Given the description of an element on the screen output the (x, y) to click on. 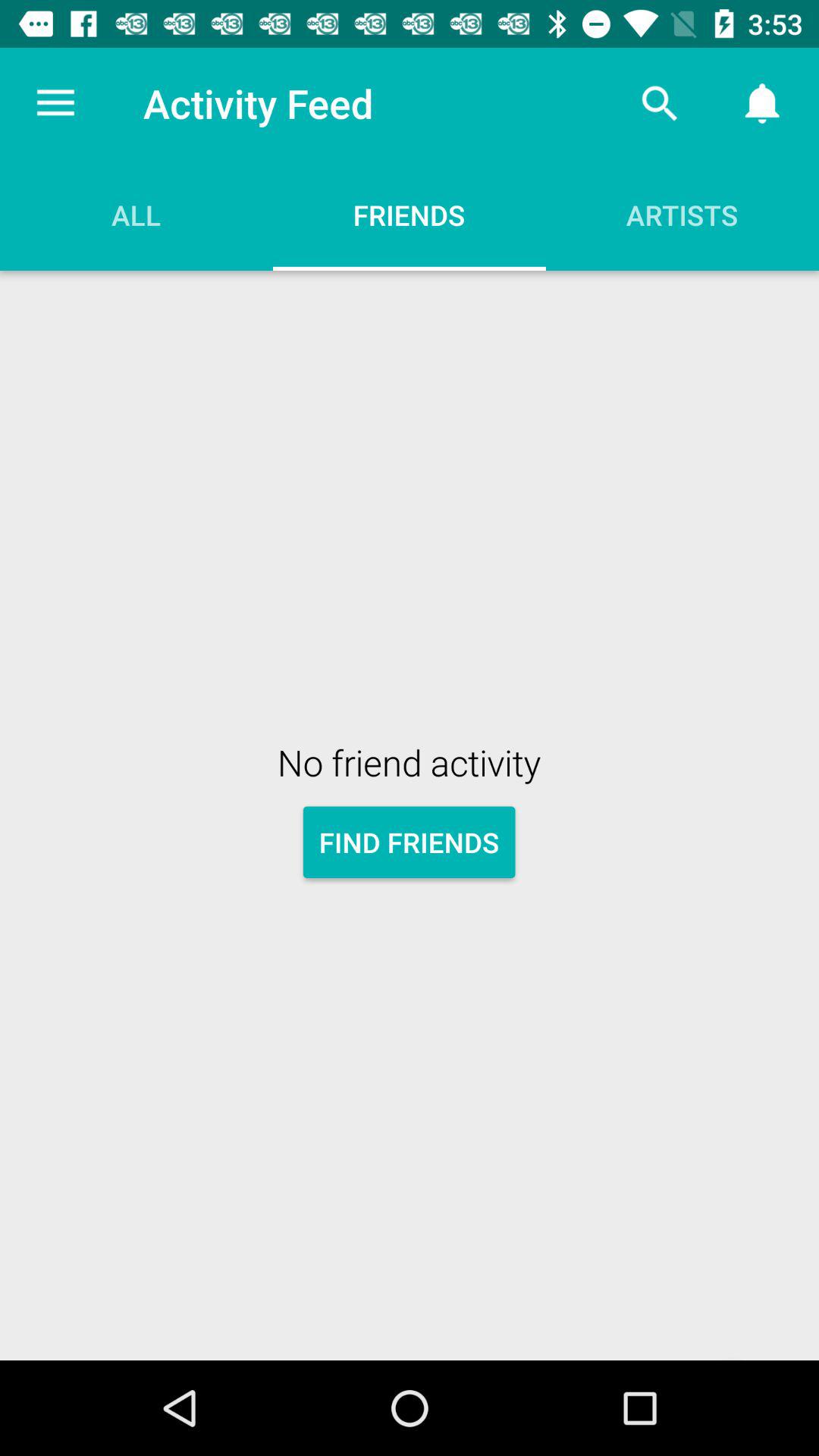
select find friends (409, 842)
